Given the description of an element on the screen output the (x, y) to click on. 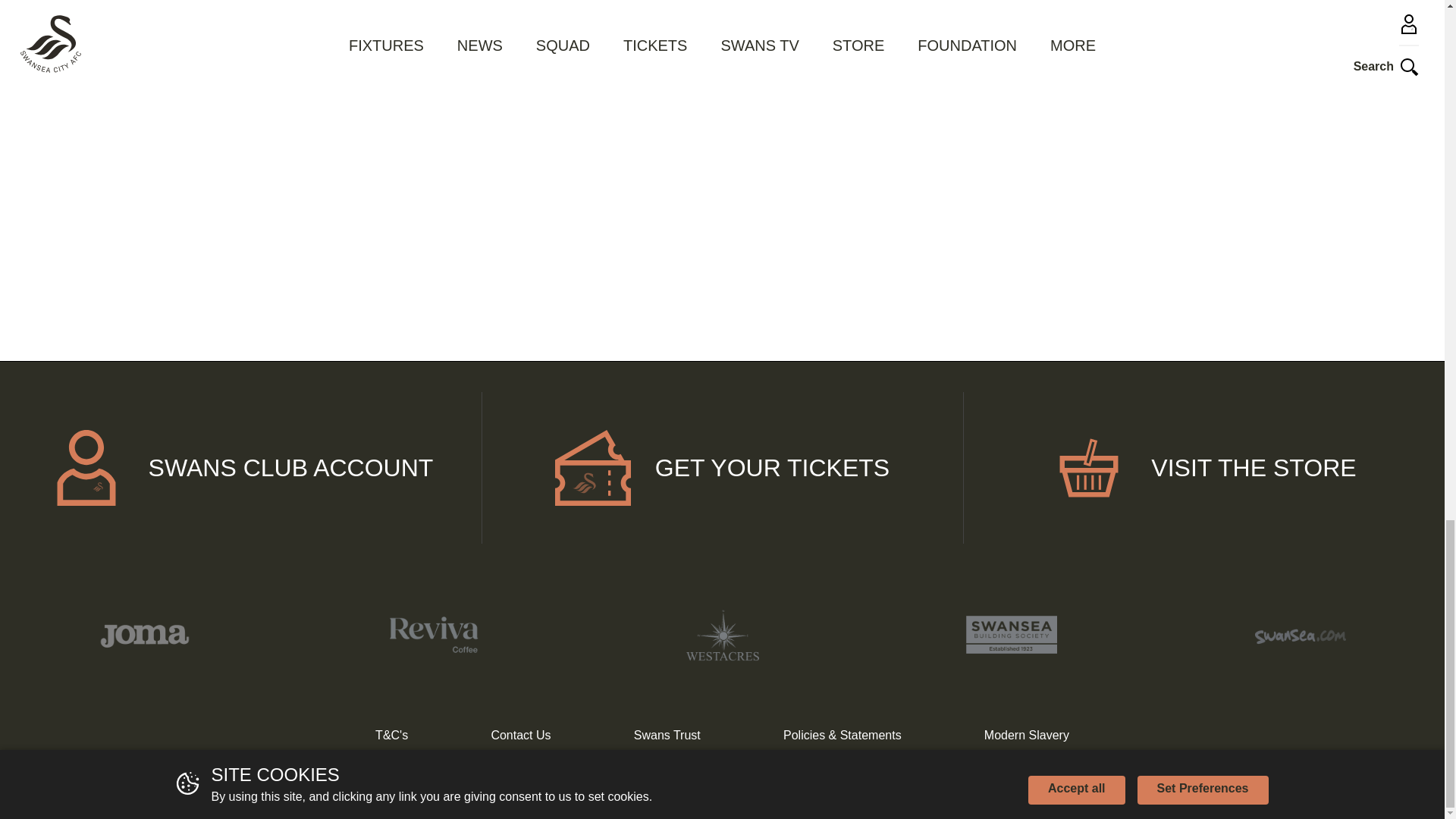
Swansea sponsor (722, 634)
Sign up or log into Swans Club Account (240, 467)
Swansea sponsor (1299, 634)
Swansea sponsor (144, 634)
Swansea sponsor (432, 634)
